Given the description of an element on the screen output the (x, y) to click on. 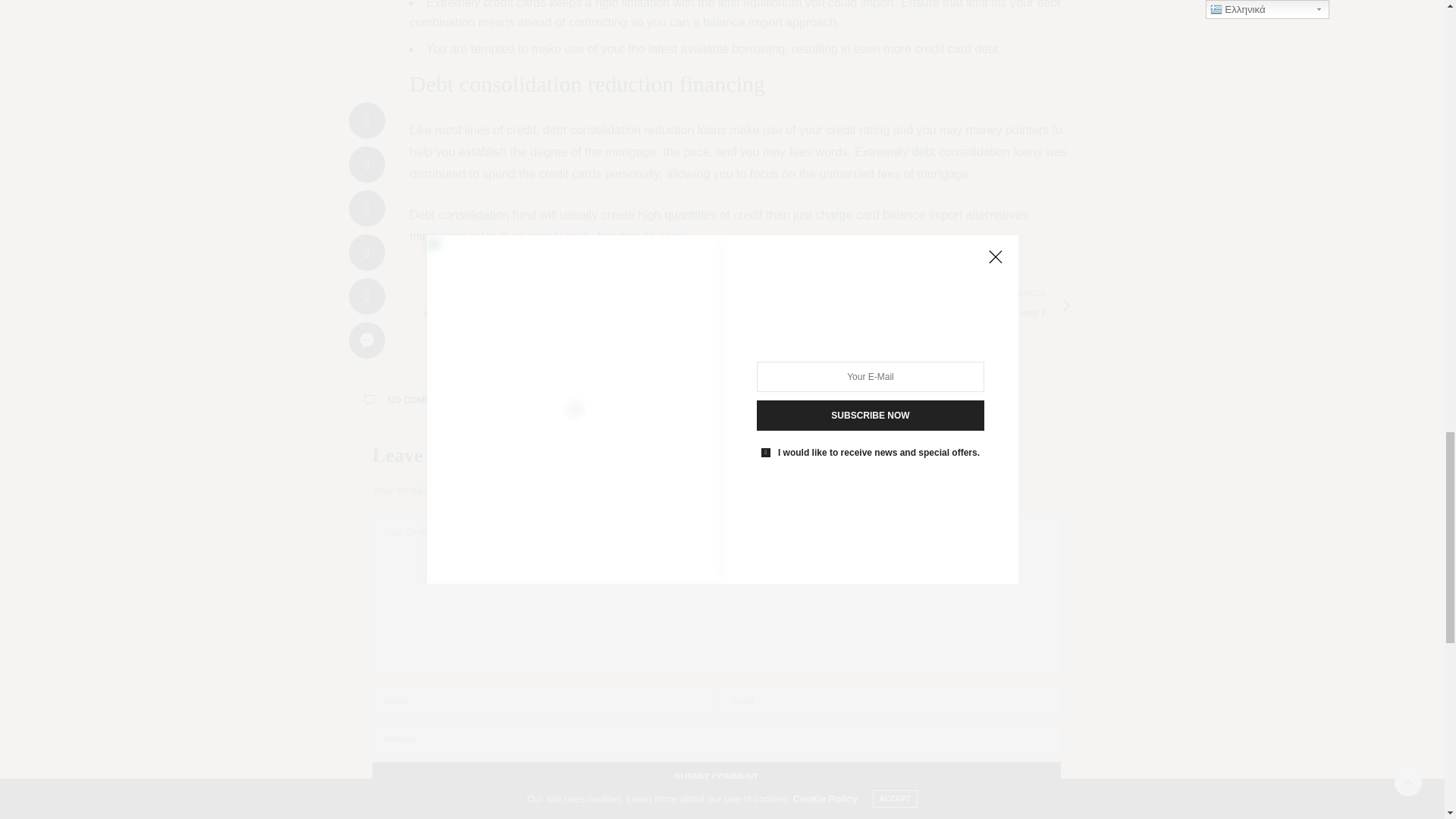
Submit Comment (716, 777)
